Given the description of an element on the screen output the (x, y) to click on. 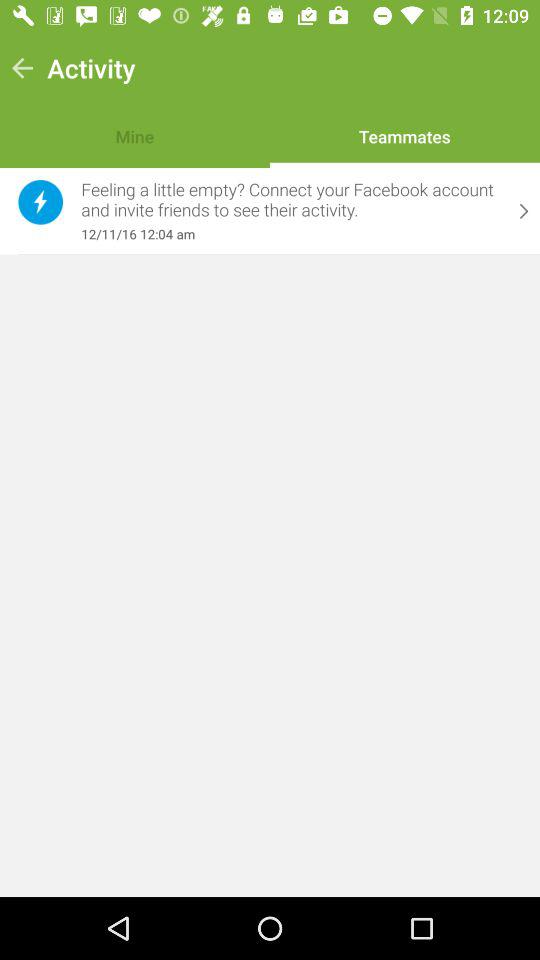
scroll to 12 11 16 icon (291, 234)
